Given the description of an element on the screen output the (x, y) to click on. 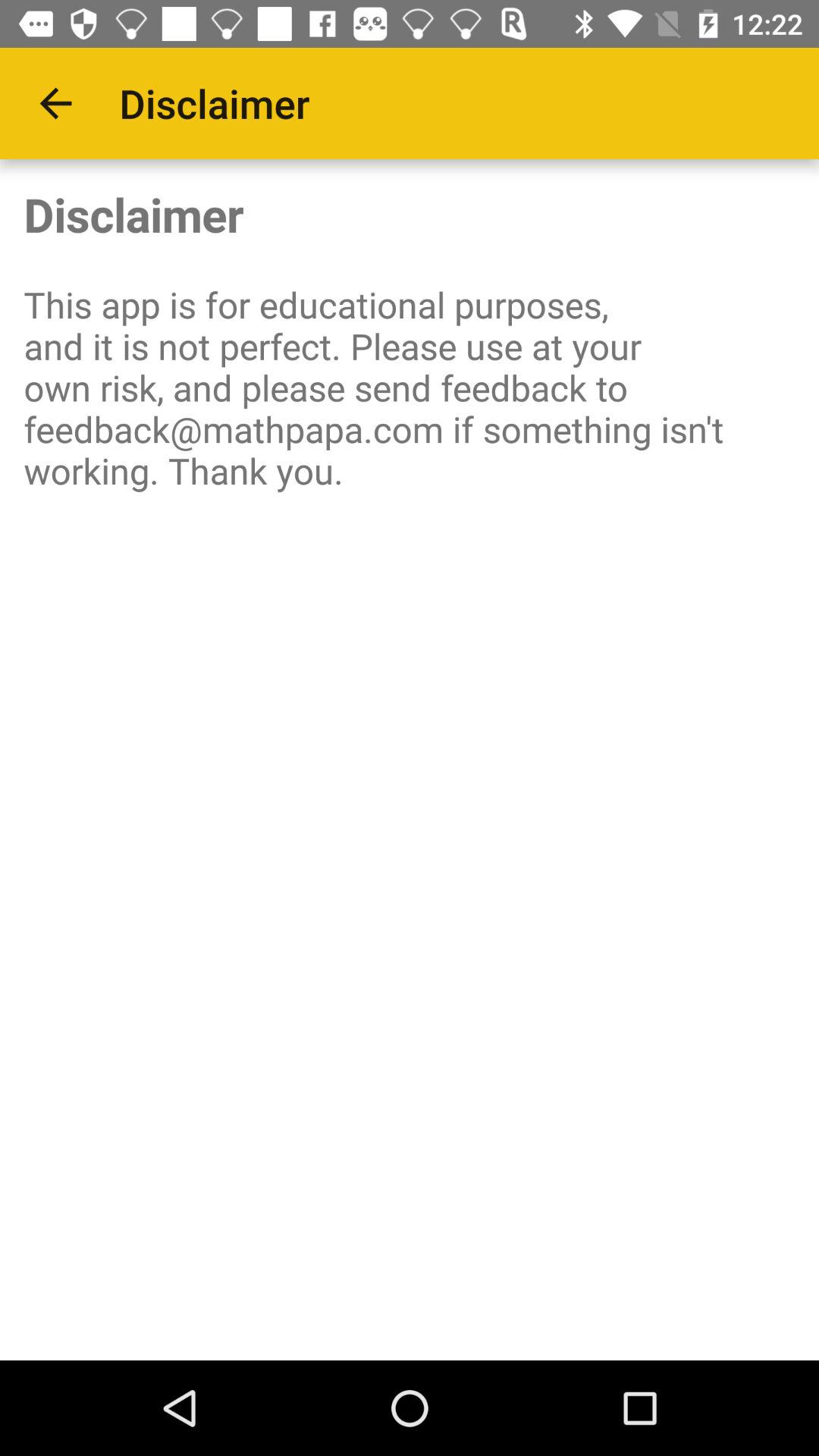
launch the icon next to the disclaimer app (55, 103)
